Given the description of an element on the screen output the (x, y) to click on. 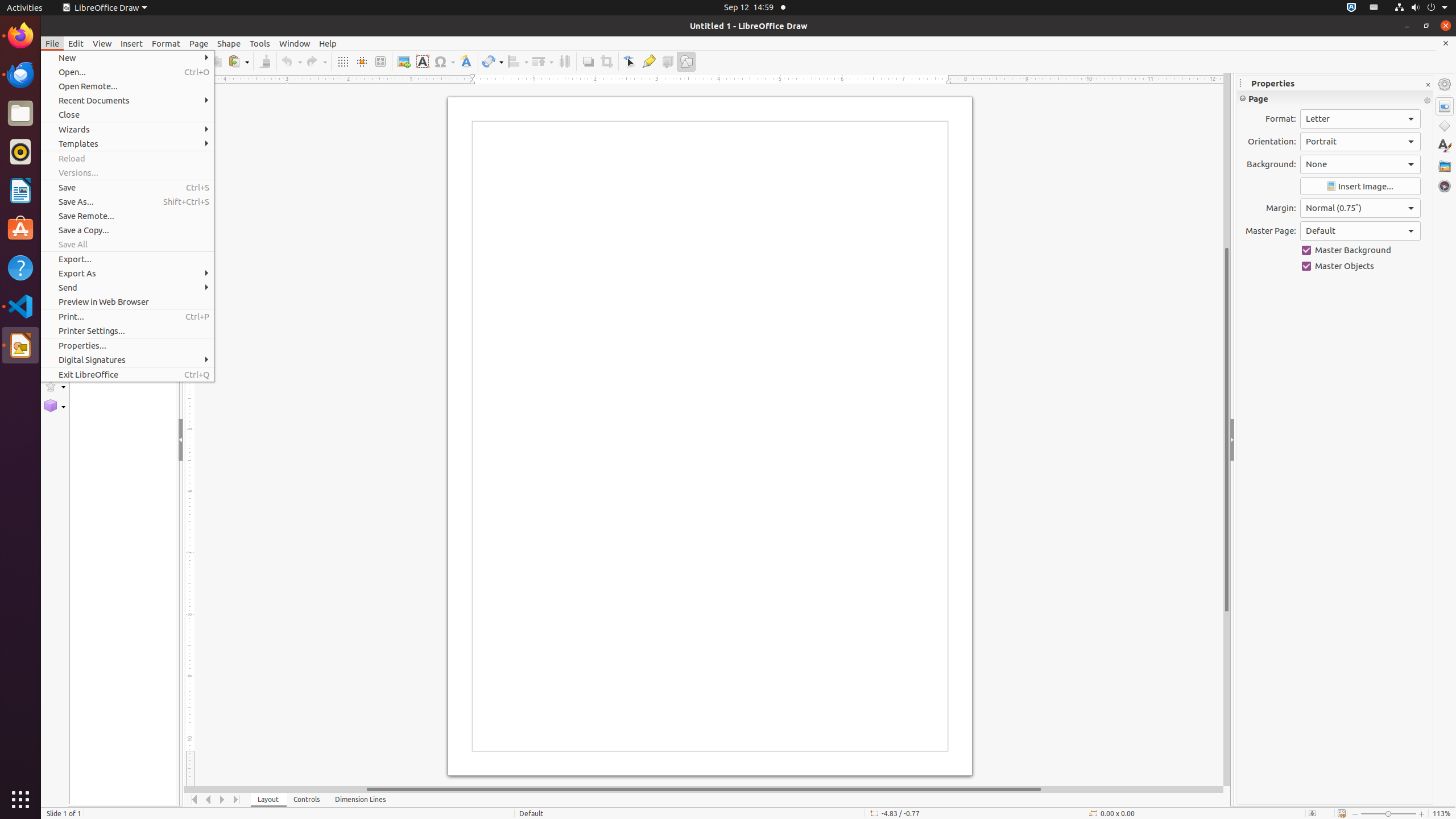
Reload Element type: menu-item (127, 158)
Edit Points Element type: push-button (629, 61)
Transformations Element type: push-button (492, 61)
Margin: Element type: combo-box (1360, 207)
Templates Element type: menu (127, 143)
